Given the description of an element on the screen output the (x, y) to click on. 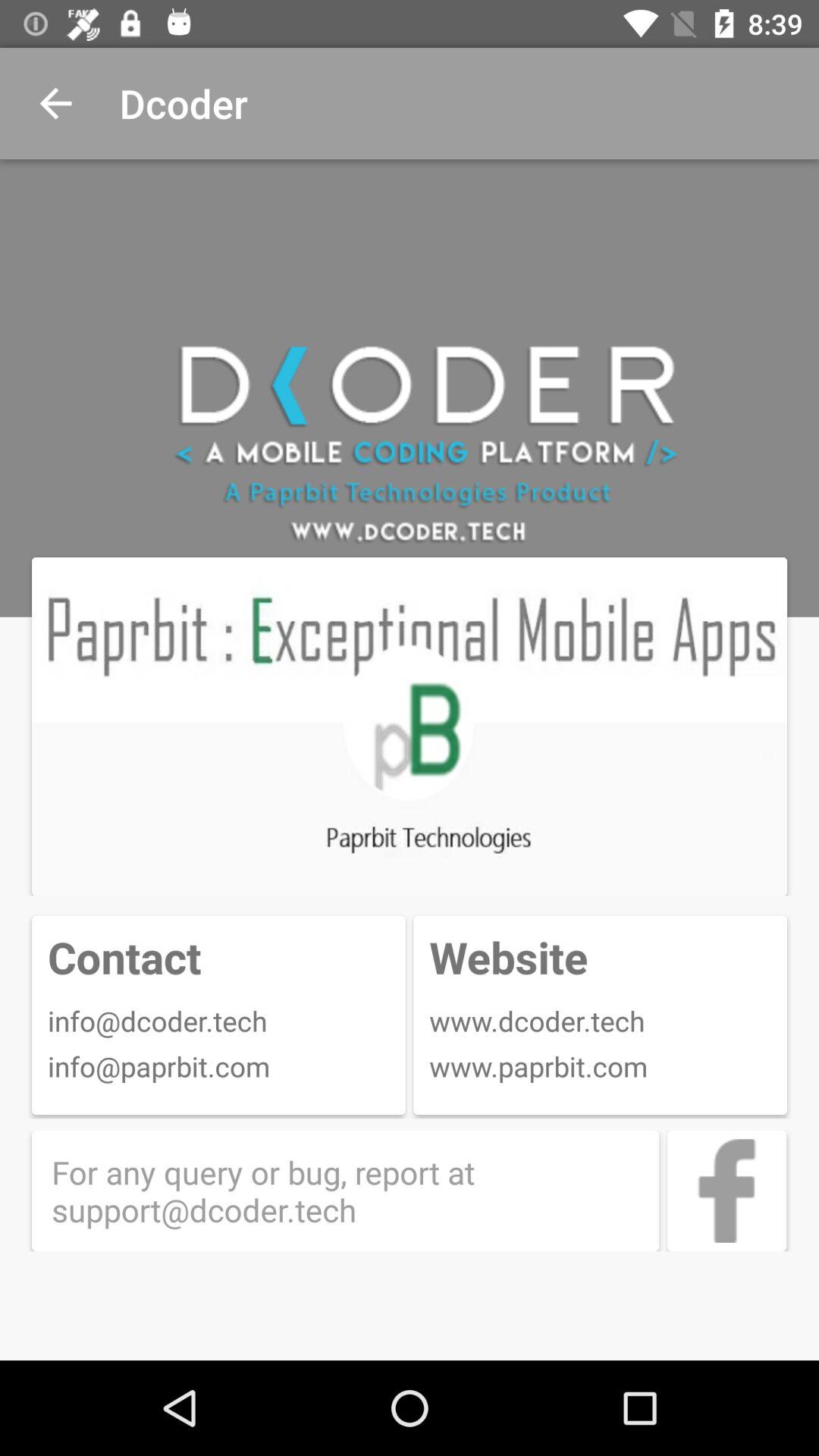
launch the icon next to dcoder item (55, 103)
